Given the description of an element on the screen output the (x, y) to click on. 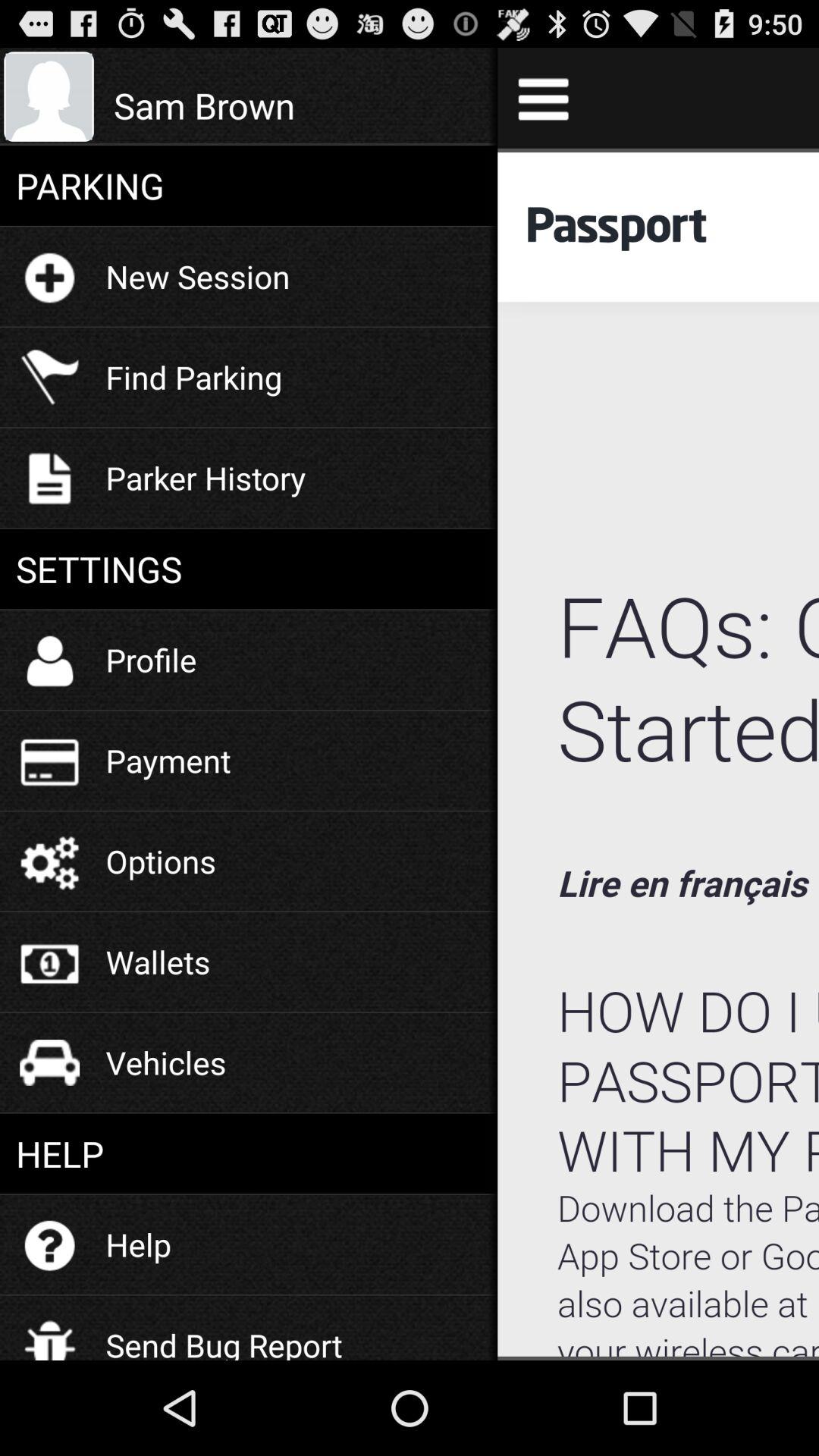
launch item above help icon (165, 1061)
